Given the description of an element on the screen output the (x, y) to click on. 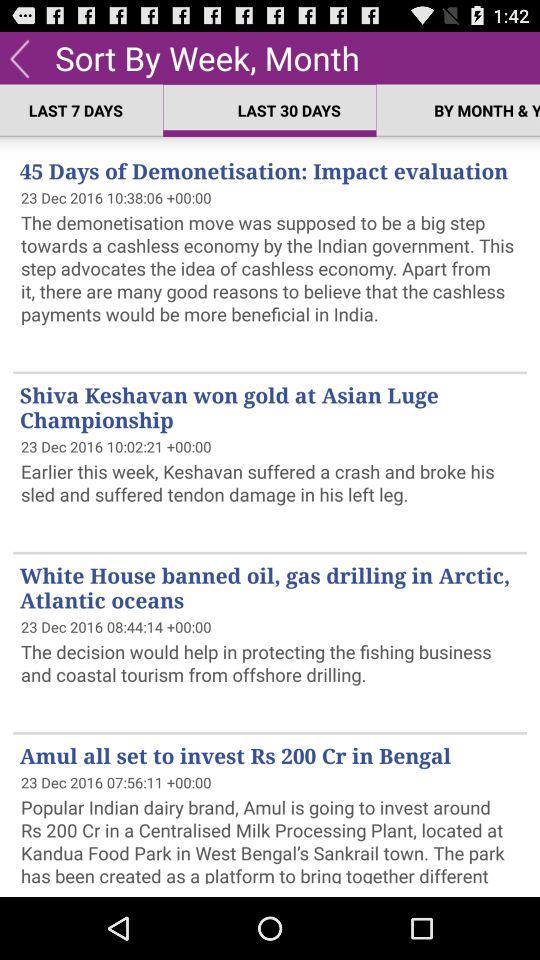
turn on the icon next to sort by week app (19, 57)
